Given the description of an element on the screen output the (x, y) to click on. 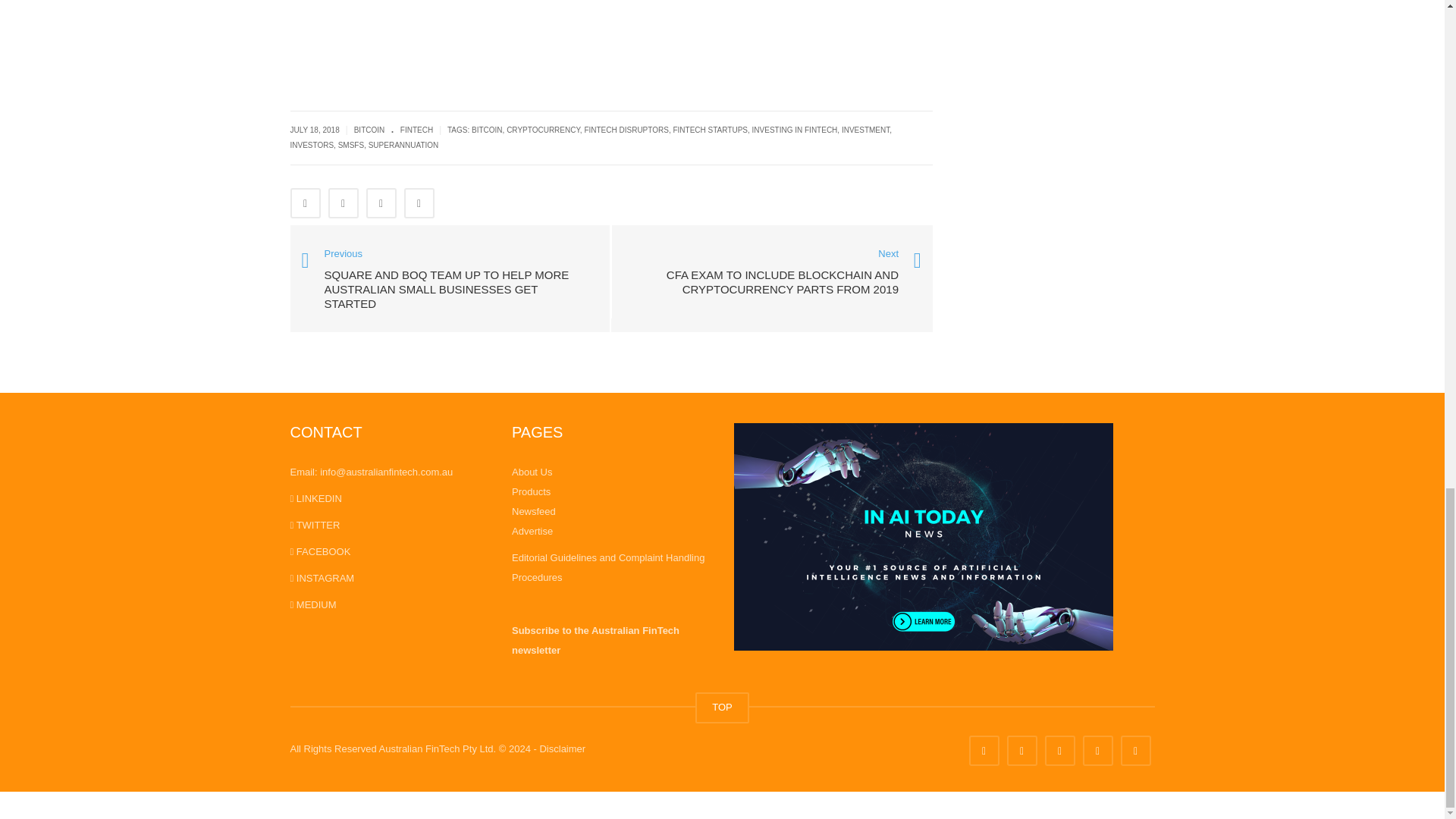
BITCOIN (369, 130)
Share on Twitter (342, 203)
Share on LinkedIn (380, 203)
Email this (418, 203)
Share on Facebook (304, 203)
